Given the description of an element on the screen output the (x, y) to click on. 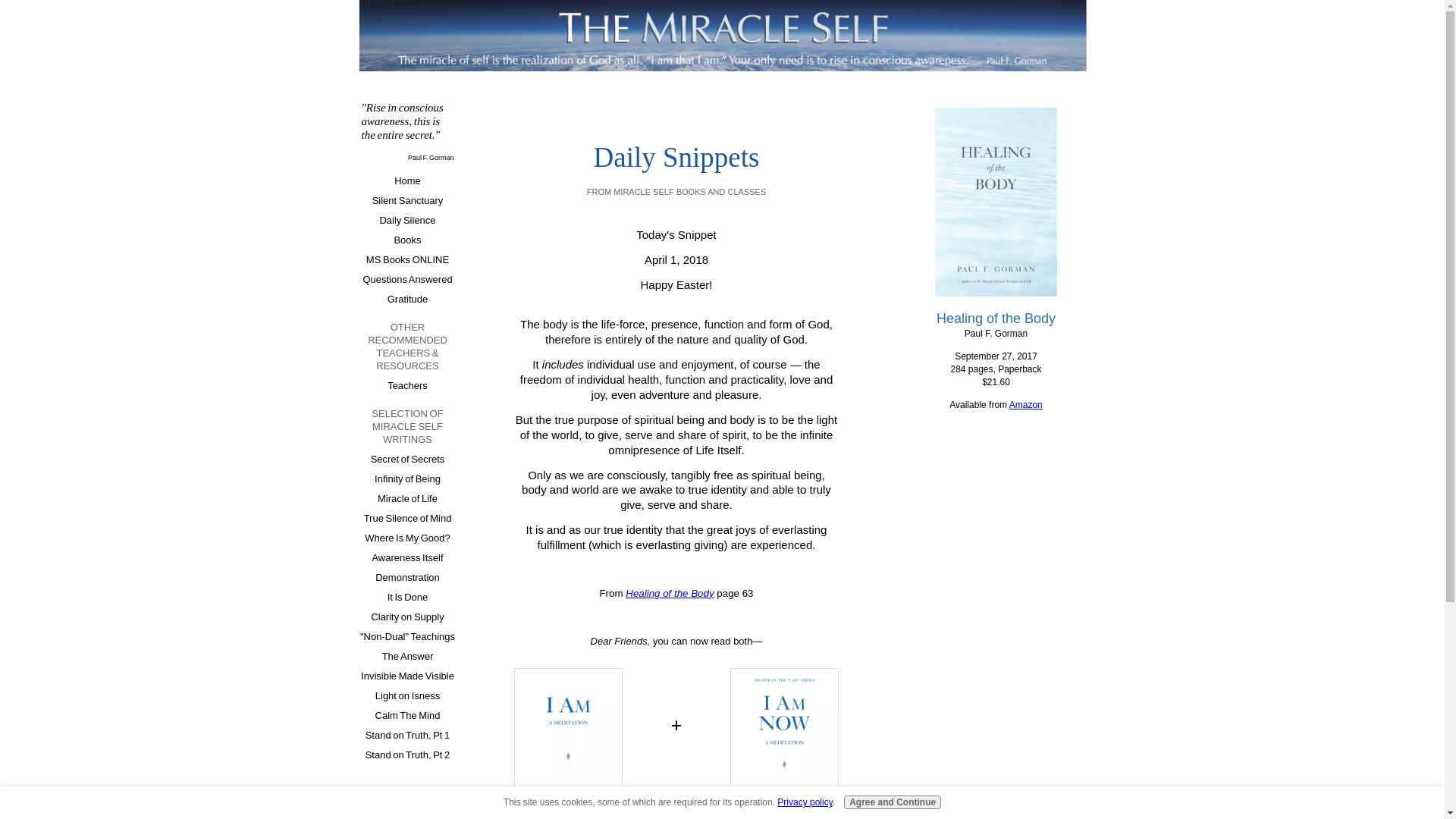
Questions Answered (407, 279)
Stand on Truth, Pt 1 (407, 735)
Where Is My Good? (407, 537)
Secret of Secrets (407, 459)
Clarity on Supply (407, 617)
Home (407, 180)
Privacy policy (804, 801)
Light on Isness (407, 695)
Calm The Mind (407, 715)
Gratitude (407, 299)
